Given the description of an element on the screen output the (x, y) to click on. 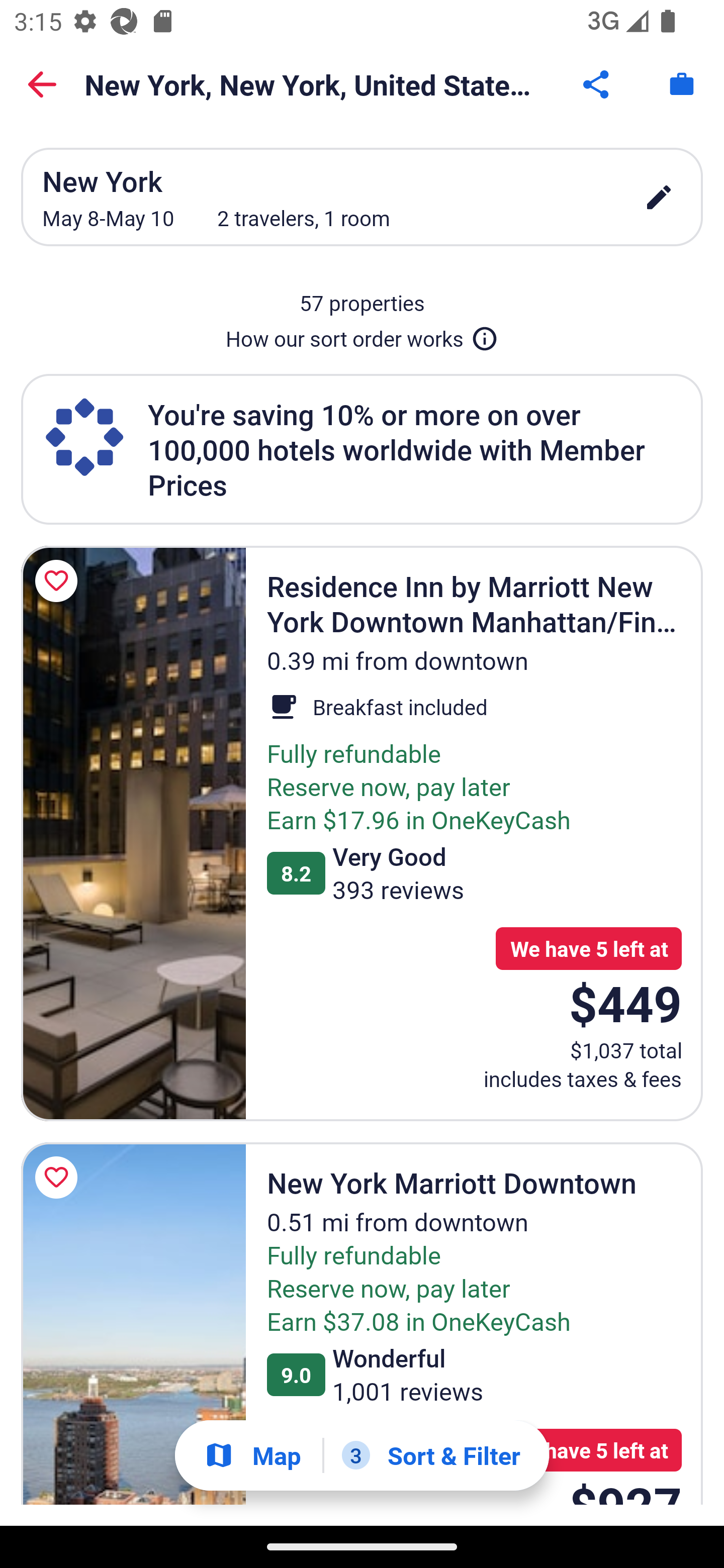
Back (42, 84)
Share Button (597, 84)
Trips. Button (681, 84)
New York May 8-May 10 2 travelers, 1 room edit (361, 196)
How our sort order works (361, 334)
Save New York Marriott Downtown to a trip (59, 1177)
New York Marriott Downtown (133, 1324)
3 Sort & Filter 3 Filters applied. Filters Button (430, 1455)
Show map Map Show map Button (252, 1455)
